Given the description of an element on the screen output the (x, y) to click on. 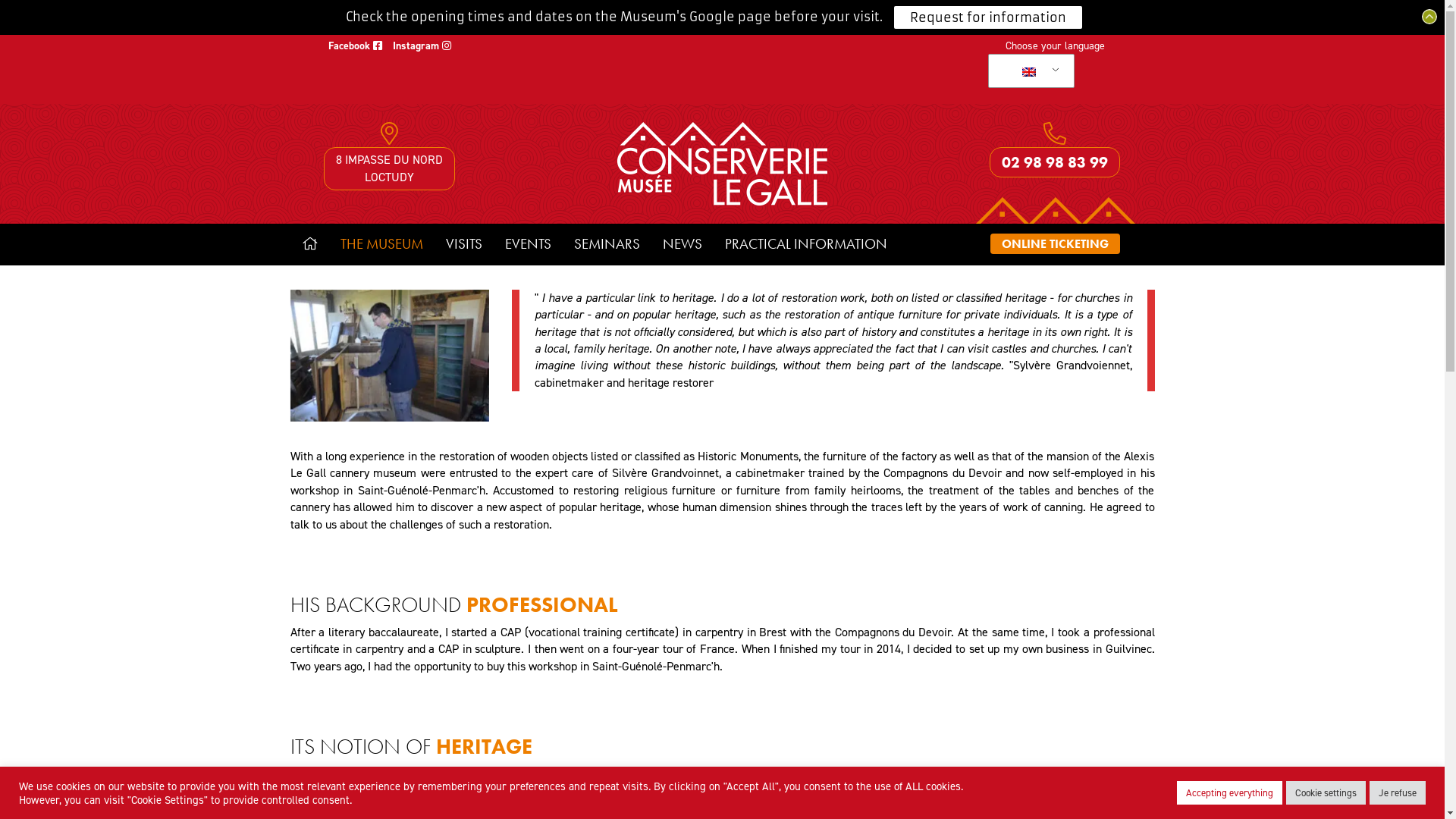
NEWS Element type: text (681, 244)
Cookie settings Element type: text (1325, 792)
Request for information Element type: text (988, 17)
Facebook Element type: text (355, 45)
Accepting everything Element type: text (1229, 792)
8 IMPASSE DU NORD
LOCTUDY Element type: text (388, 167)
Je refuse Element type: text (1397, 792)
Instagram Element type: text (421, 45)
English (UK) Element type: hover (1028, 71)
ONLINE TICKETING Element type: text (1055, 243)
EVENTS Element type: text (526, 244)
English (UK) Element type: hover (1028, 70)
02 98 98 83 99 Element type: text (1054, 162)
